Given the description of an element on the screen output the (x, y) to click on. 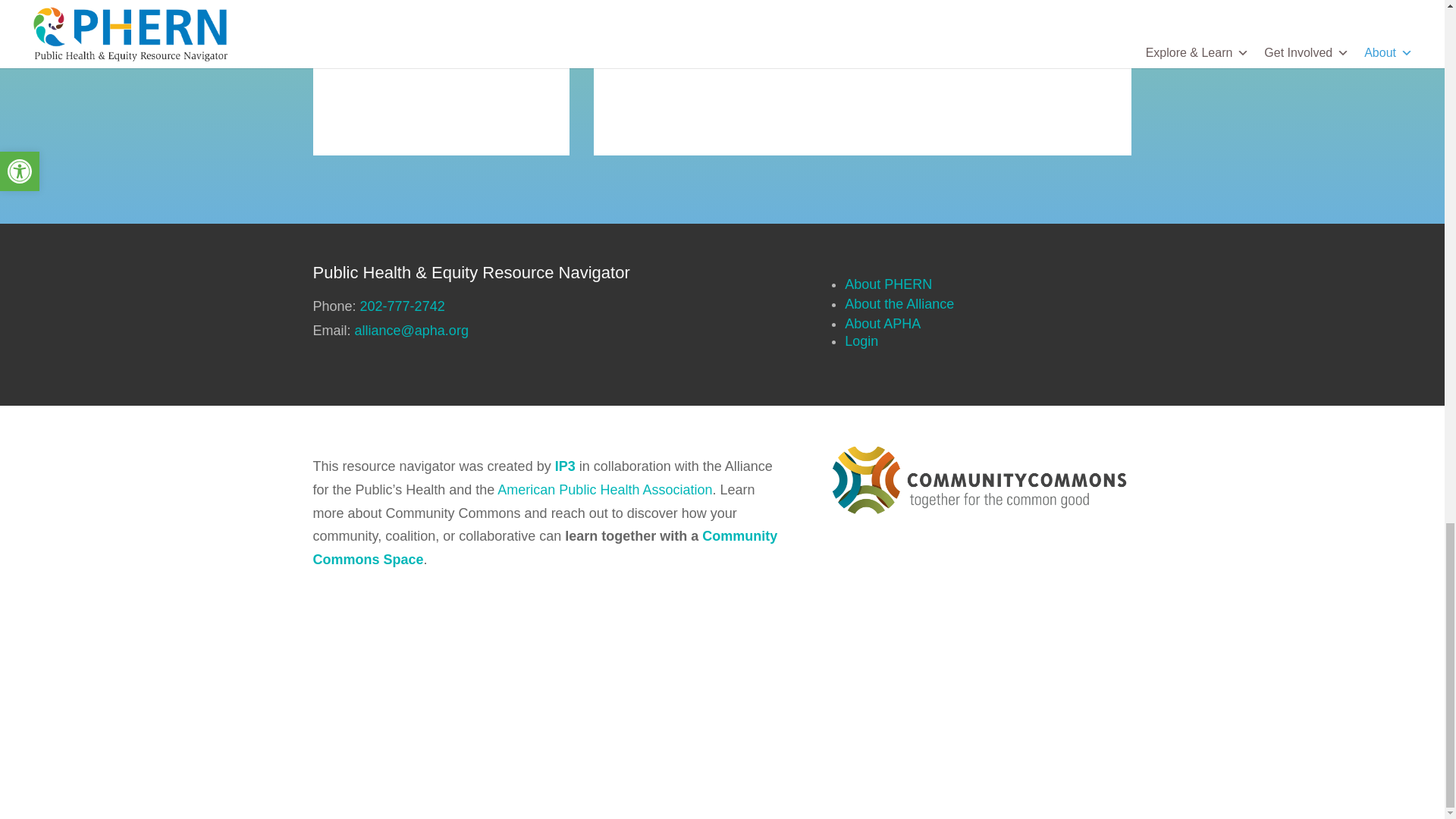
Form 0 (981, 657)
Follow on Twitter (440, 55)
Follow on LinkedIn (479, 55)
Follow on Facebook (402, 55)
